Given the description of an element on the screen output the (x, y) to click on. 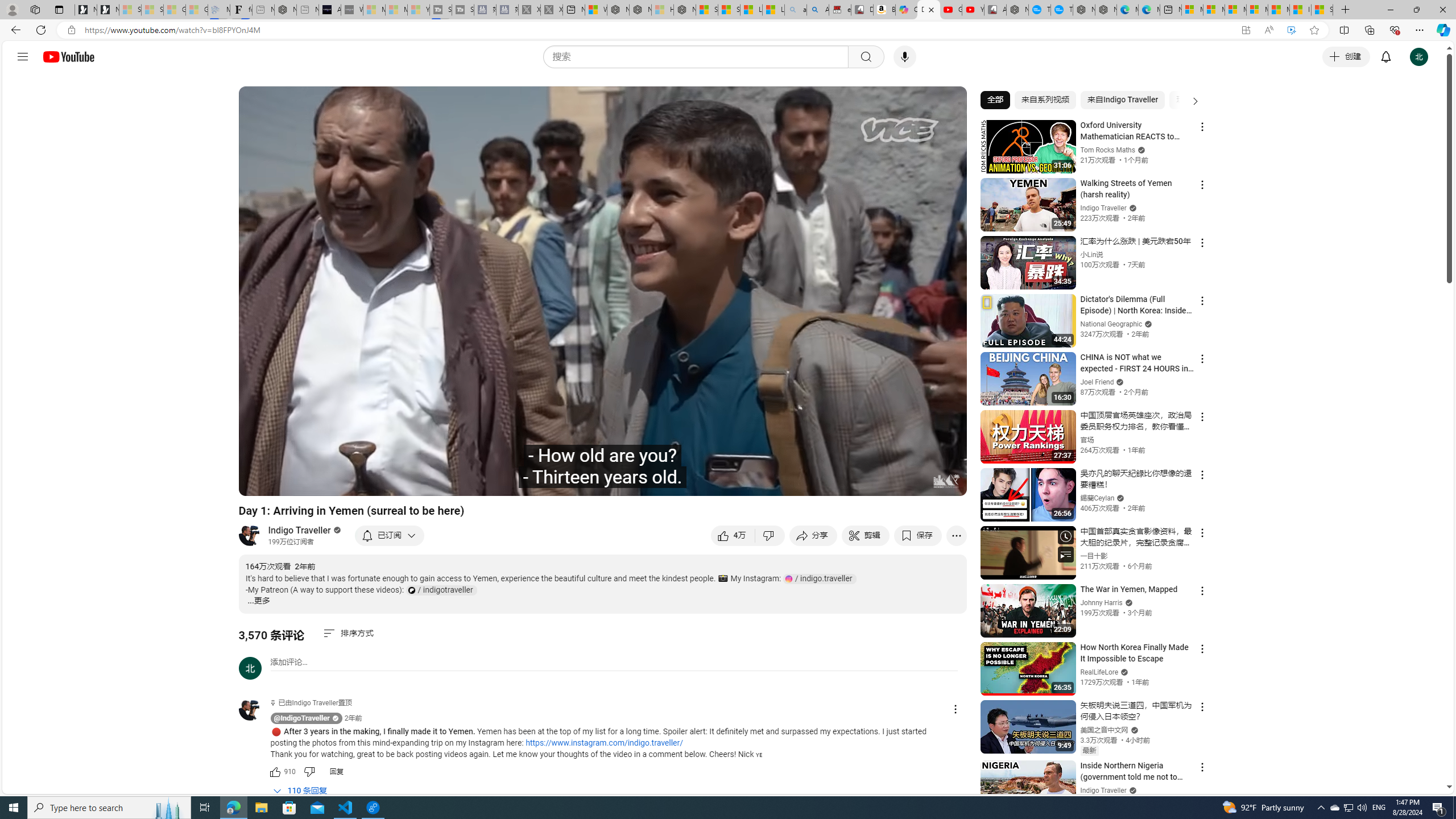
Gloom - YouTube (950, 9)
Microsoft Start Sports - Sleeping (374, 9)
Day 1: Arriving in Yemen (surreal to be here) - YouTube (928, 9)
Intro (388, 482)
Class: ytp-subtitles-button-icon (837, 482)
